Given the description of an element on the screen output the (x, y) to click on. 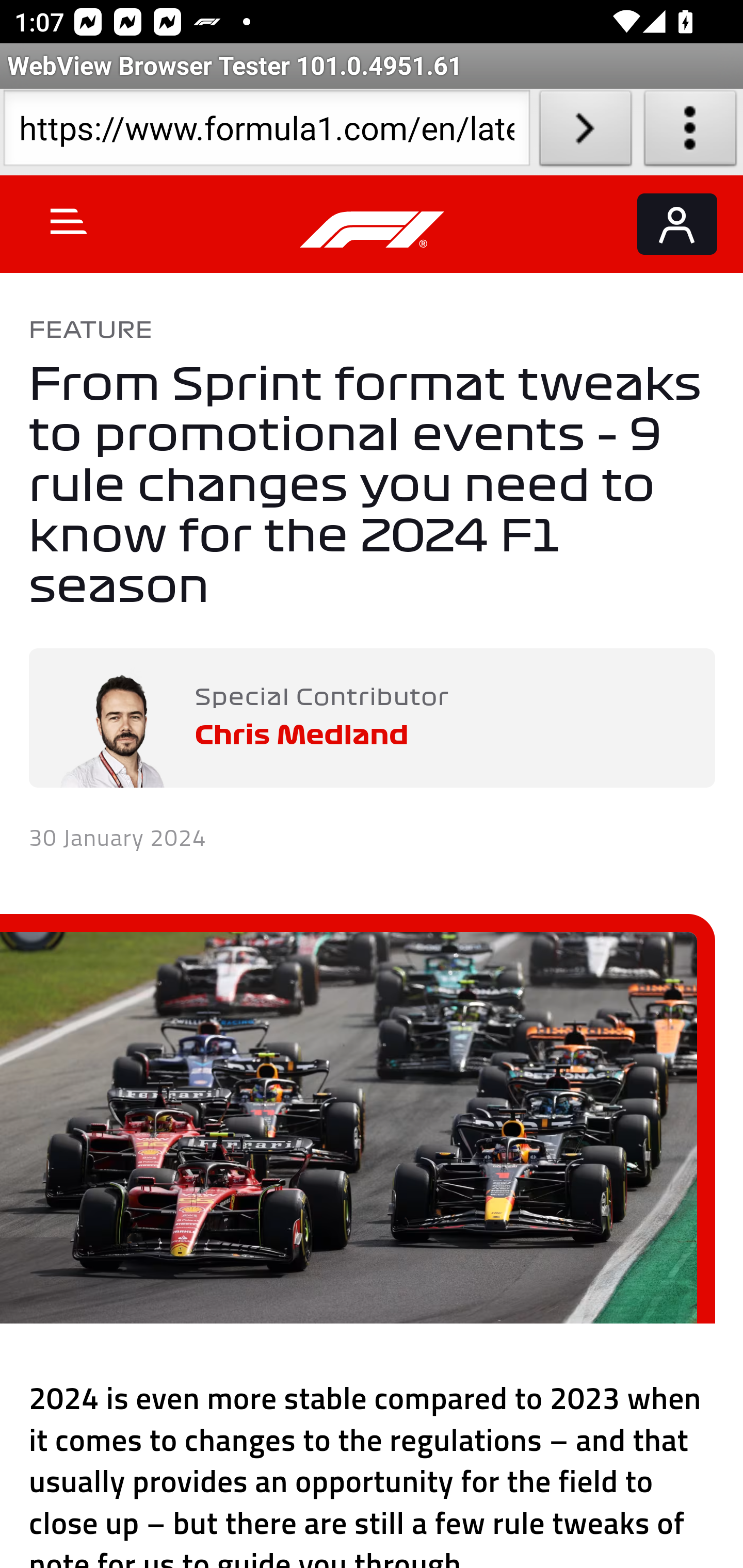
Load URL (585, 132)
About WebView (690, 132)
Toggle Menu (68, 220)
Formula 1 (372, 230)
 Login/Register  Login/Register (677, 223)
